Given the description of an element on the screen output the (x, y) to click on. 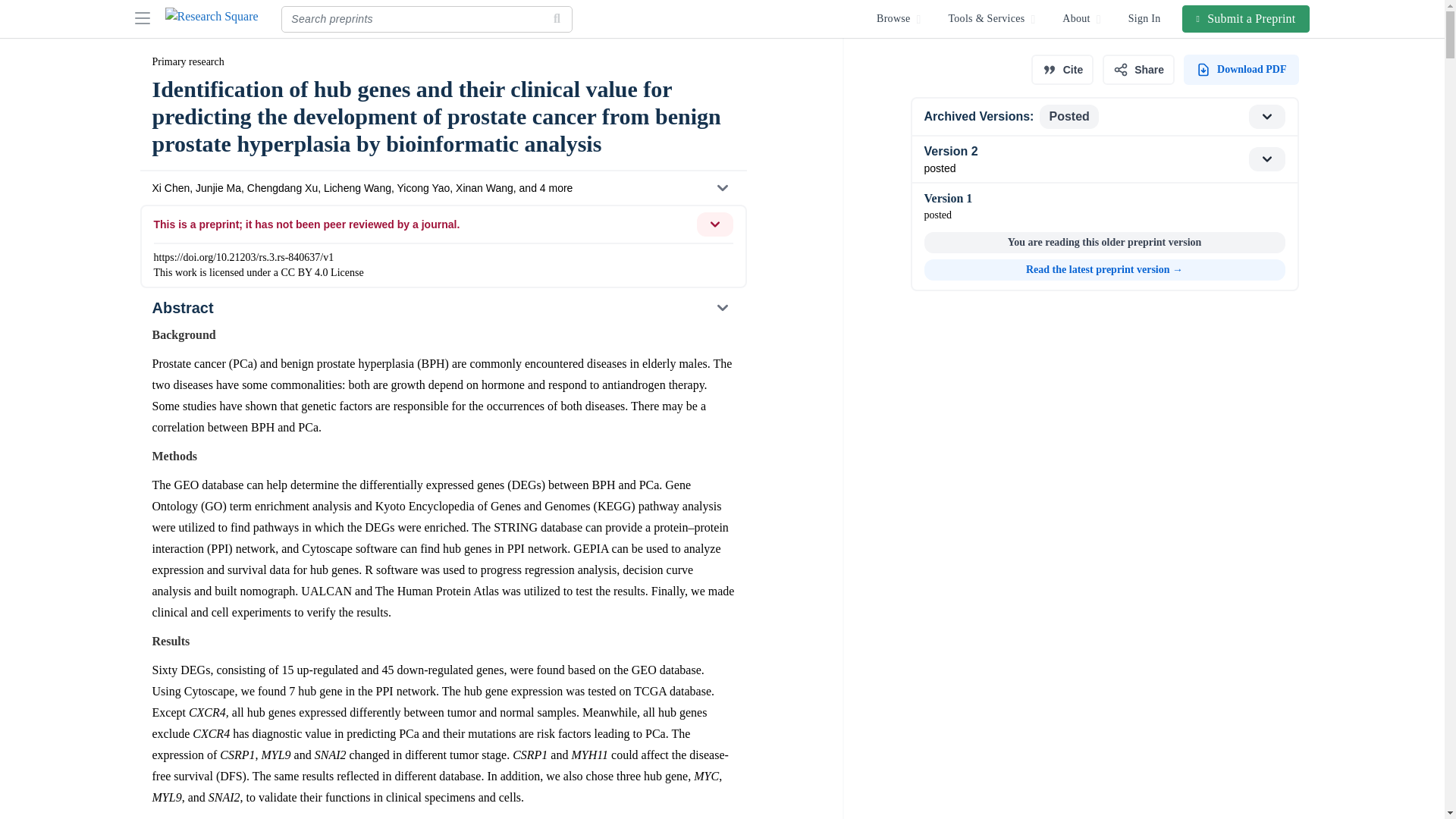
Submit a Preprint (1246, 18)
Sign In (1144, 18)
Abstract (442, 307)
